Given the description of an element on the screen output the (x, y) to click on. 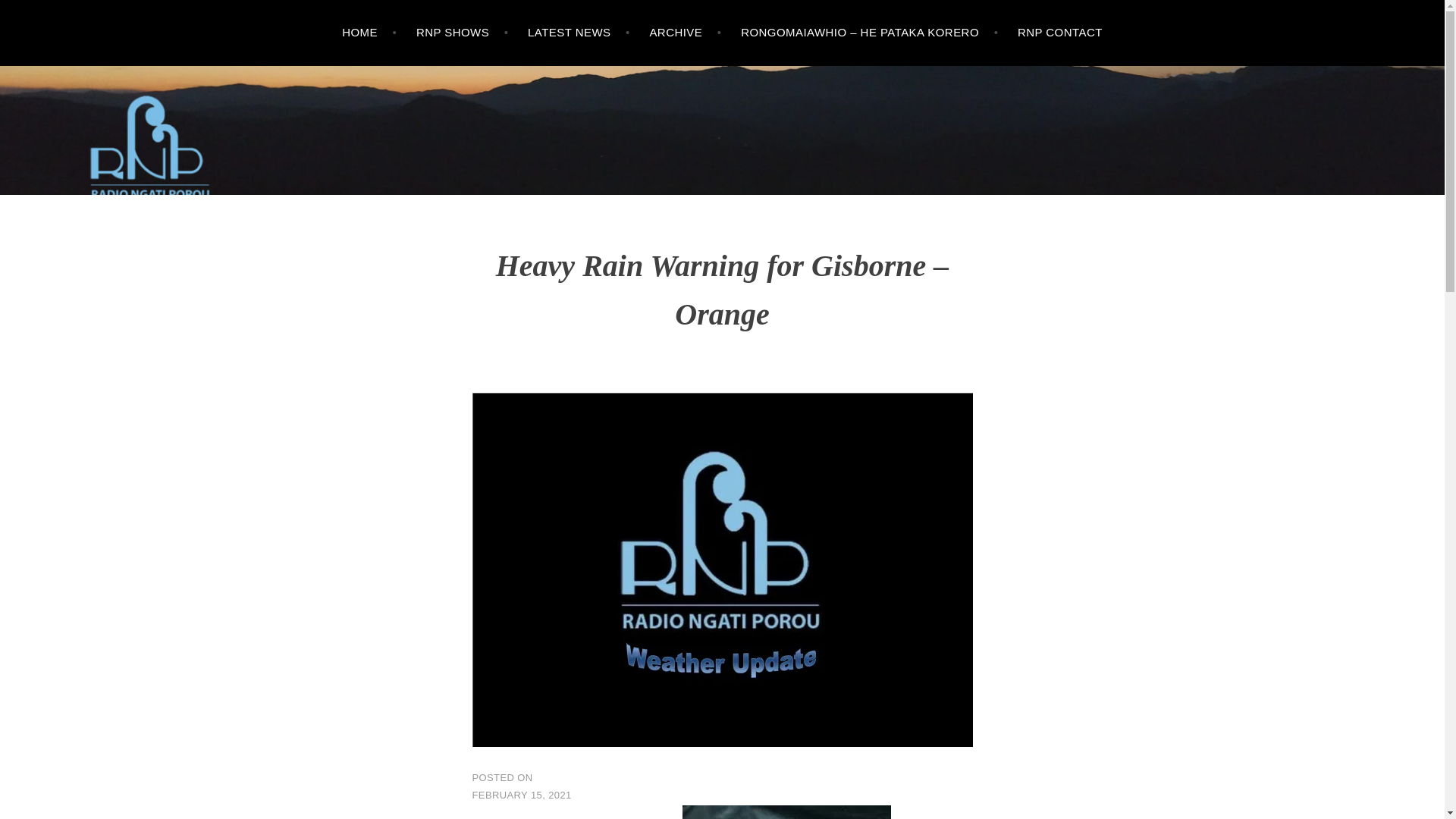
Search (42, 15)
FEBRUARY 15, 2021 (520, 794)
ARCHIVE (684, 32)
RADIO NGATI POROU (182, 156)
RNP CONTACT (1059, 32)
LATEST NEWS (578, 32)
RNP SHOWS (462, 32)
HOME (369, 32)
